Given the description of an element on the screen output the (x, y) to click on. 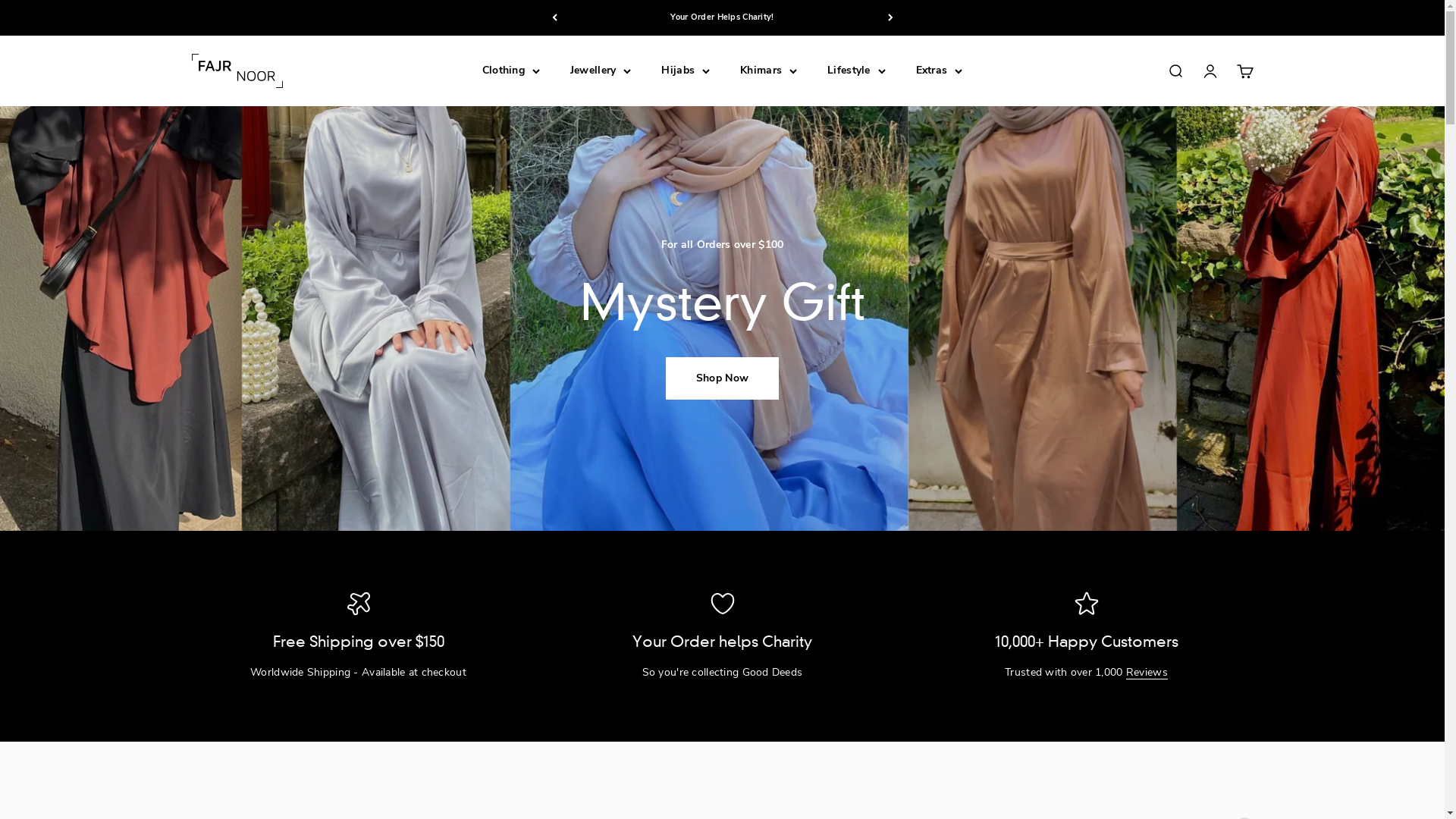
Reviews Element type: text (1146, 672)
Fajr Noor Element type: text (236, 70)
Open account page Element type: text (1209, 70)
Open search Element type: text (1174, 70)
Open cart
0 Element type: text (1244, 70)
Shop Now Element type: text (721, 377)
